Given the description of an element on the screen output the (x, y) to click on. 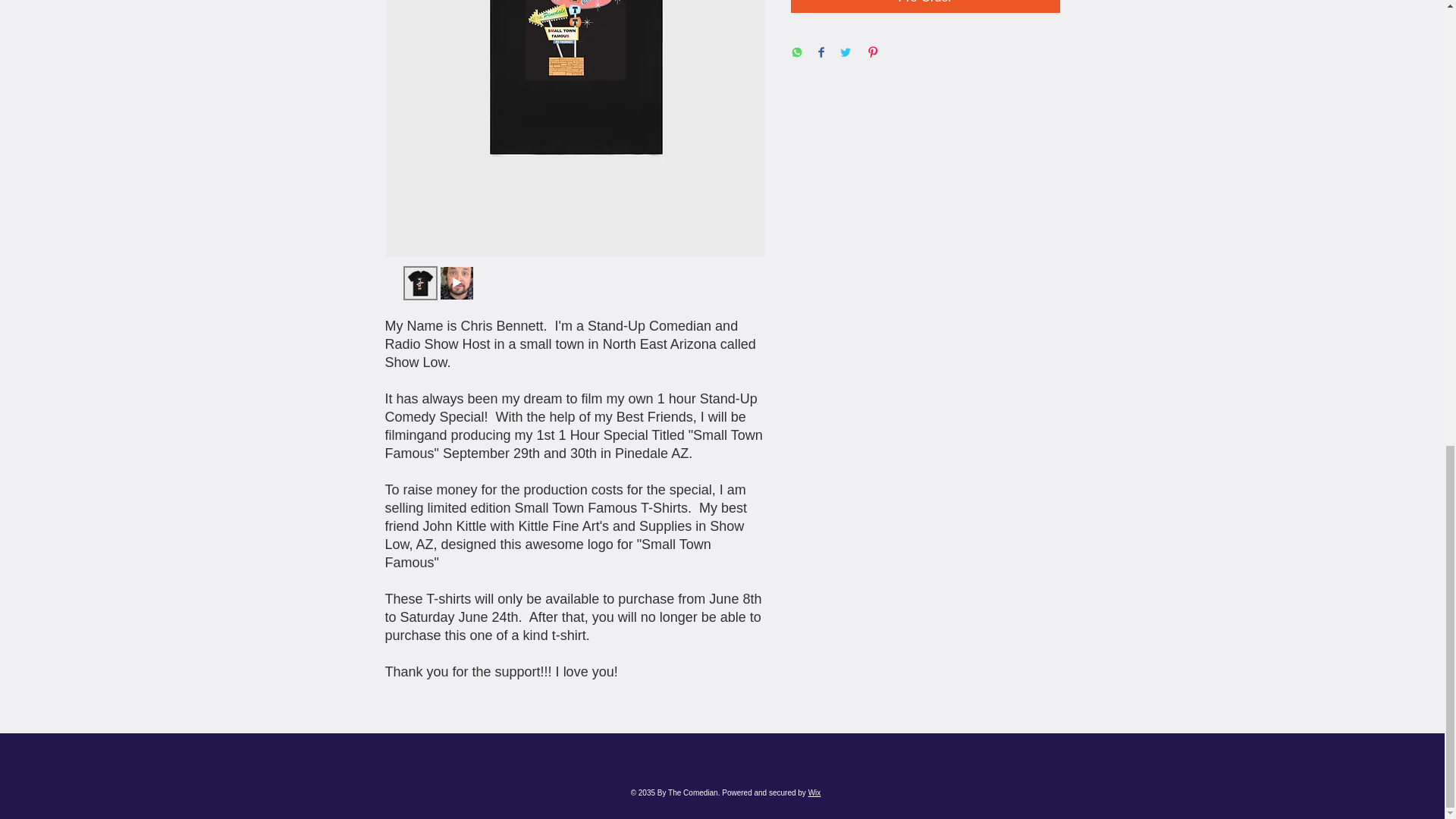
Pre-Order (924, 6)
Wix (814, 792)
